Given the description of an element on the screen output the (x, y) to click on. 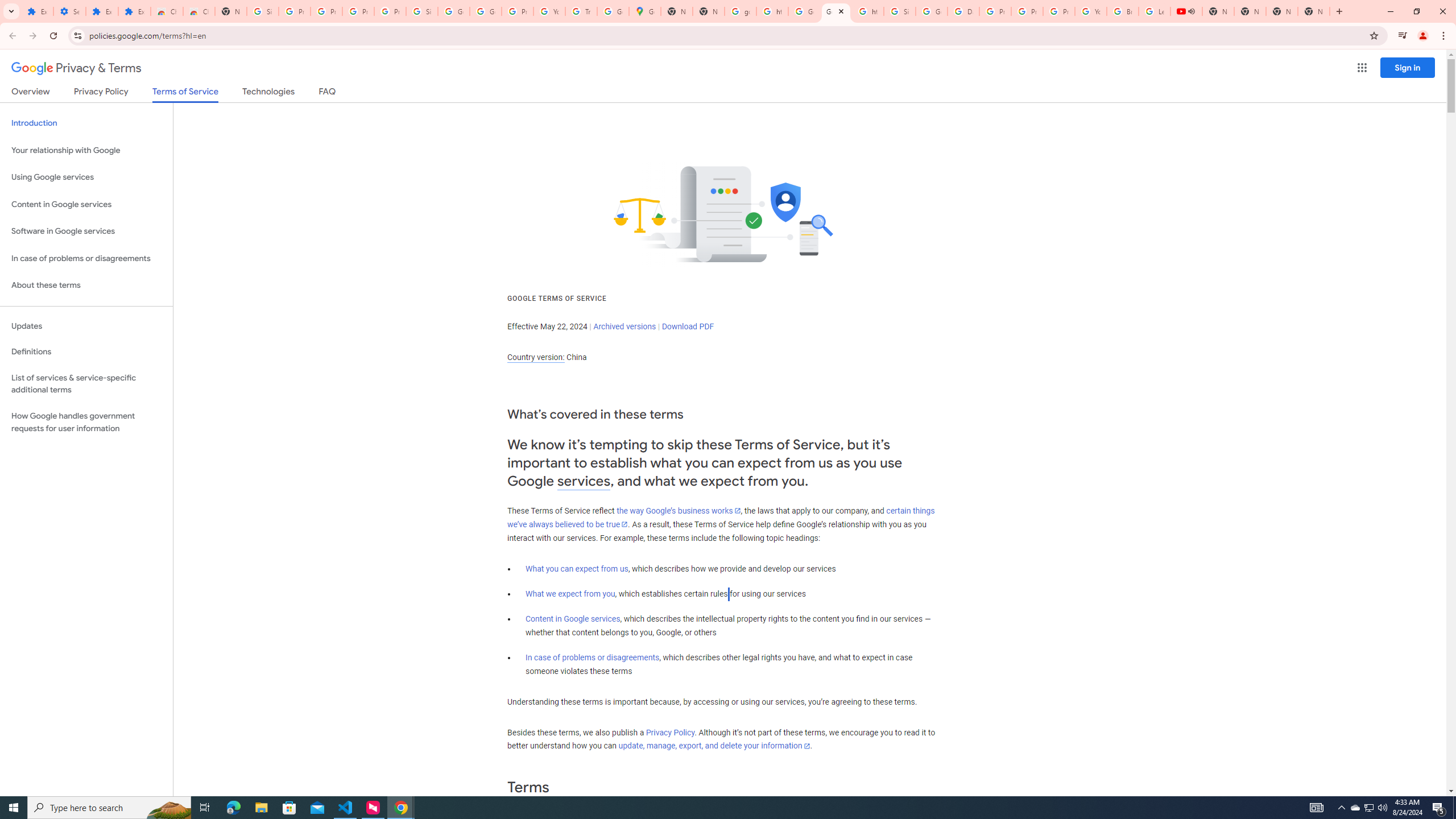
Country version: (535, 357)
Privacy & Terms (76, 68)
https://scholar.google.com/ (772, 11)
About these terms (86, 284)
Using Google services (86, 176)
services (583, 480)
What we expect from you (570, 593)
